Given the description of an element on the screen output the (x, y) to click on. 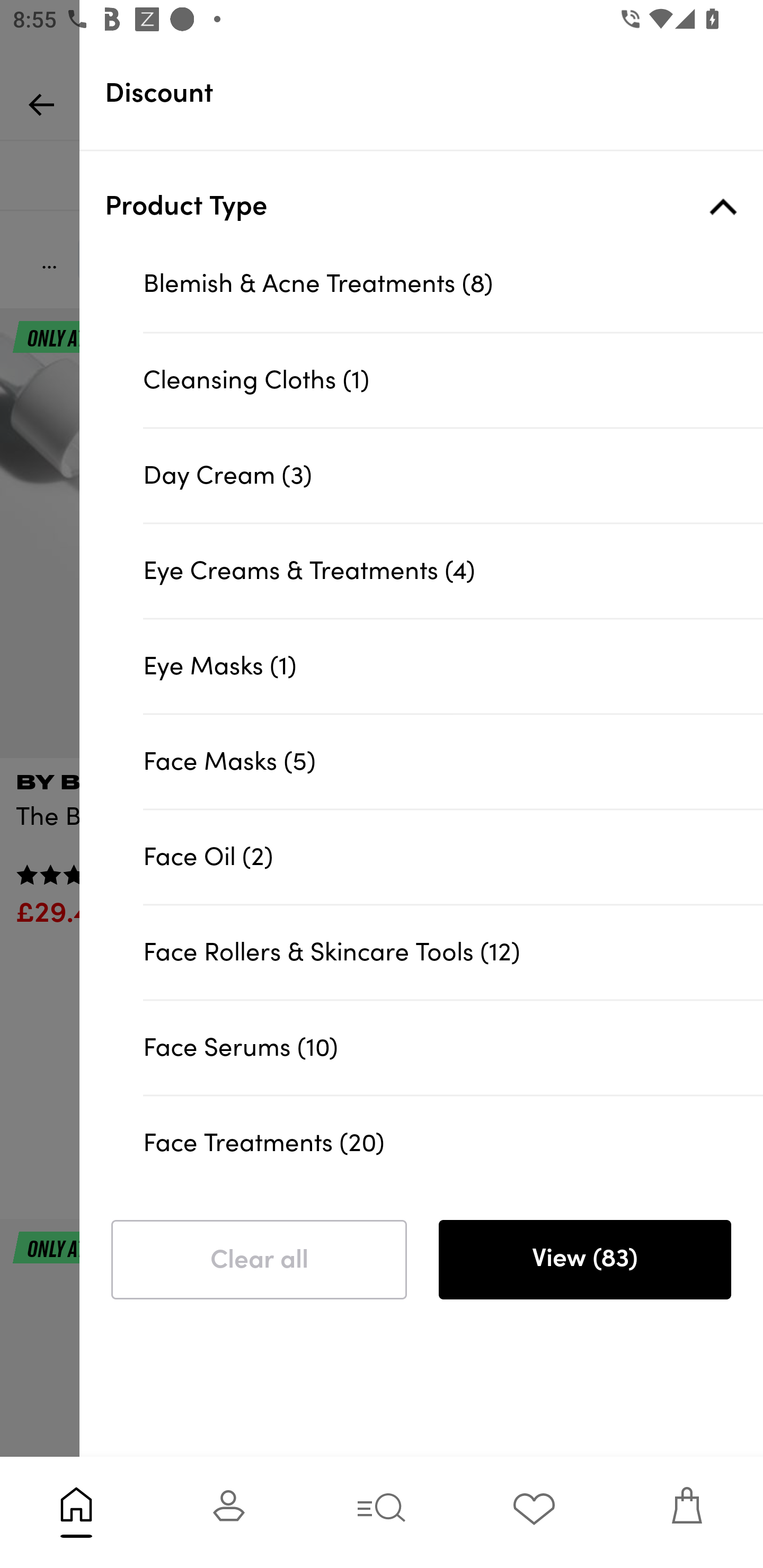
Discount (434, 92)
Blemish & Acne Treatments (8) (453, 284)
Cleansing Cloths (1) (453, 380)
Day Cream (3) (453, 475)
Eye Creams & Treatments (4) (453, 569)
Eye Masks (1) (453, 665)
Face Masks (5) (453, 761)
Face Oil (2) (453, 856)
Face Rollers & Skincare Tools (12) (453, 952)
Face Serums (10) (453, 1047)
Face Treatments (20) (453, 1141)
Clear all (258, 1259)
View (83) (584, 1259)
